Given the description of an element on the screen output the (x, y) to click on. 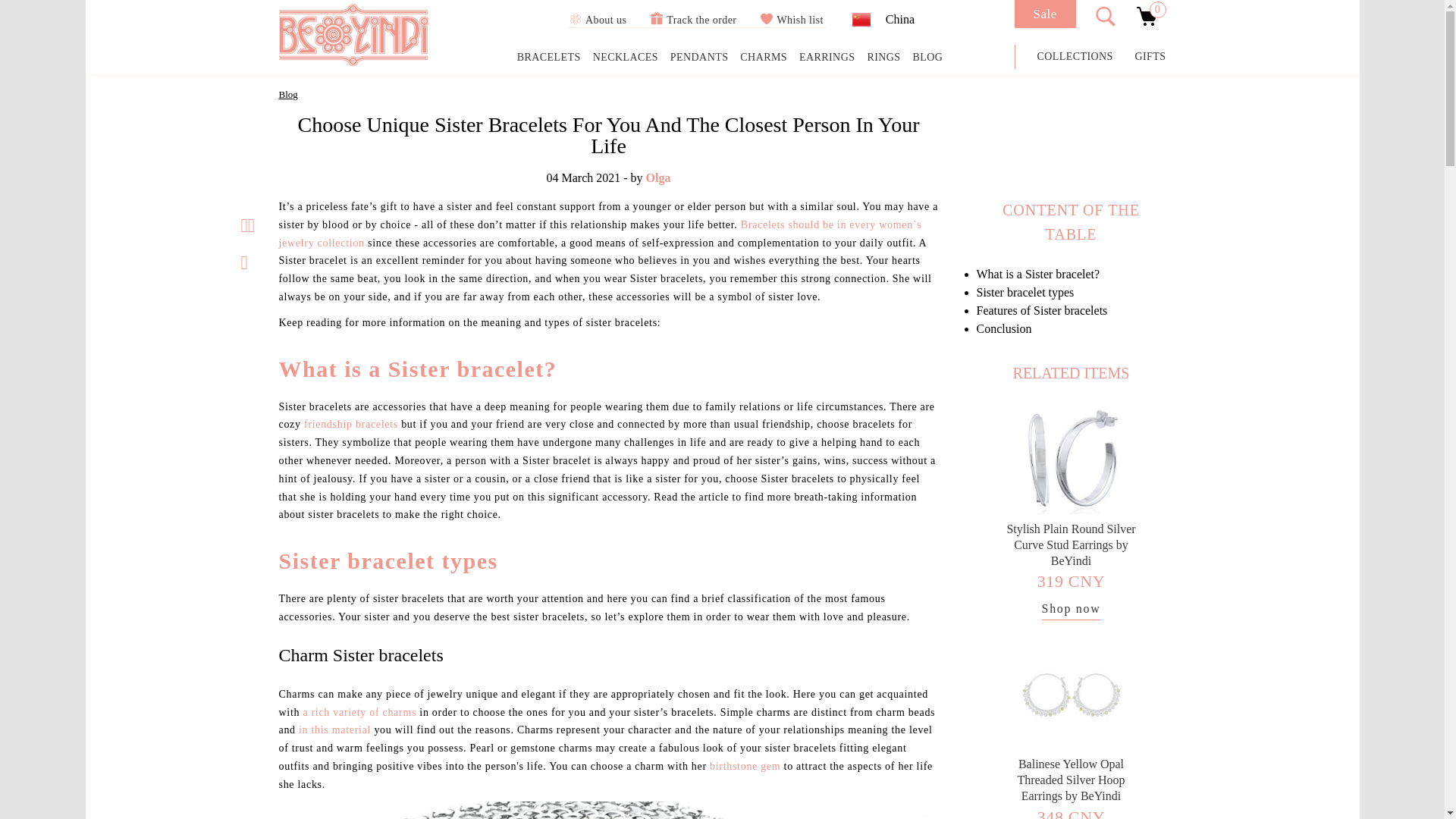
GIFTS (1150, 56)
BRACELETS (548, 57)
Blog (288, 94)
About us (596, 19)
Share this on Twitter (244, 225)
RINGS (882, 57)
CHARMS (763, 57)
PENDANTS (698, 57)
COLLECTIONS (1074, 56)
Sister bracelet types (1025, 291)
Sale (1044, 13)
Share this on Facebook (250, 225)
Stylish Plain Round Silver Curve Stud Earrings by BeYindi (1070, 544)
Shop now (1071, 610)
